Given the description of an element on the screen output the (x, y) to click on. 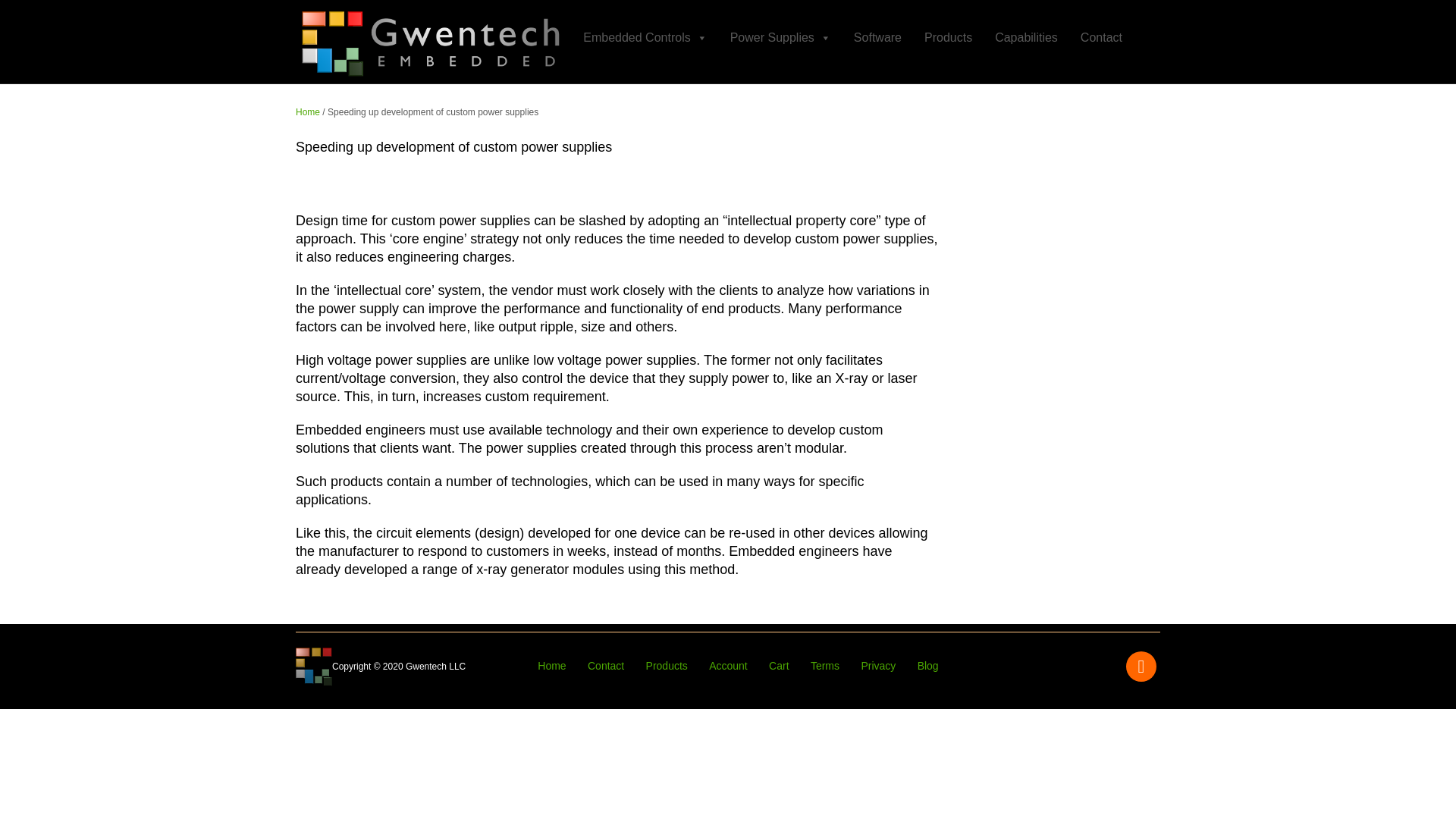
Cart (778, 665)
Contact (1101, 37)
Terms (825, 665)
Gwentech Embedded (307, 112)
Contact (606, 665)
Account (728, 665)
Home (307, 112)
Products (947, 37)
Power Supplies (780, 37)
Capabilities (1026, 37)
